Given the description of an element on the screen output the (x, y) to click on. 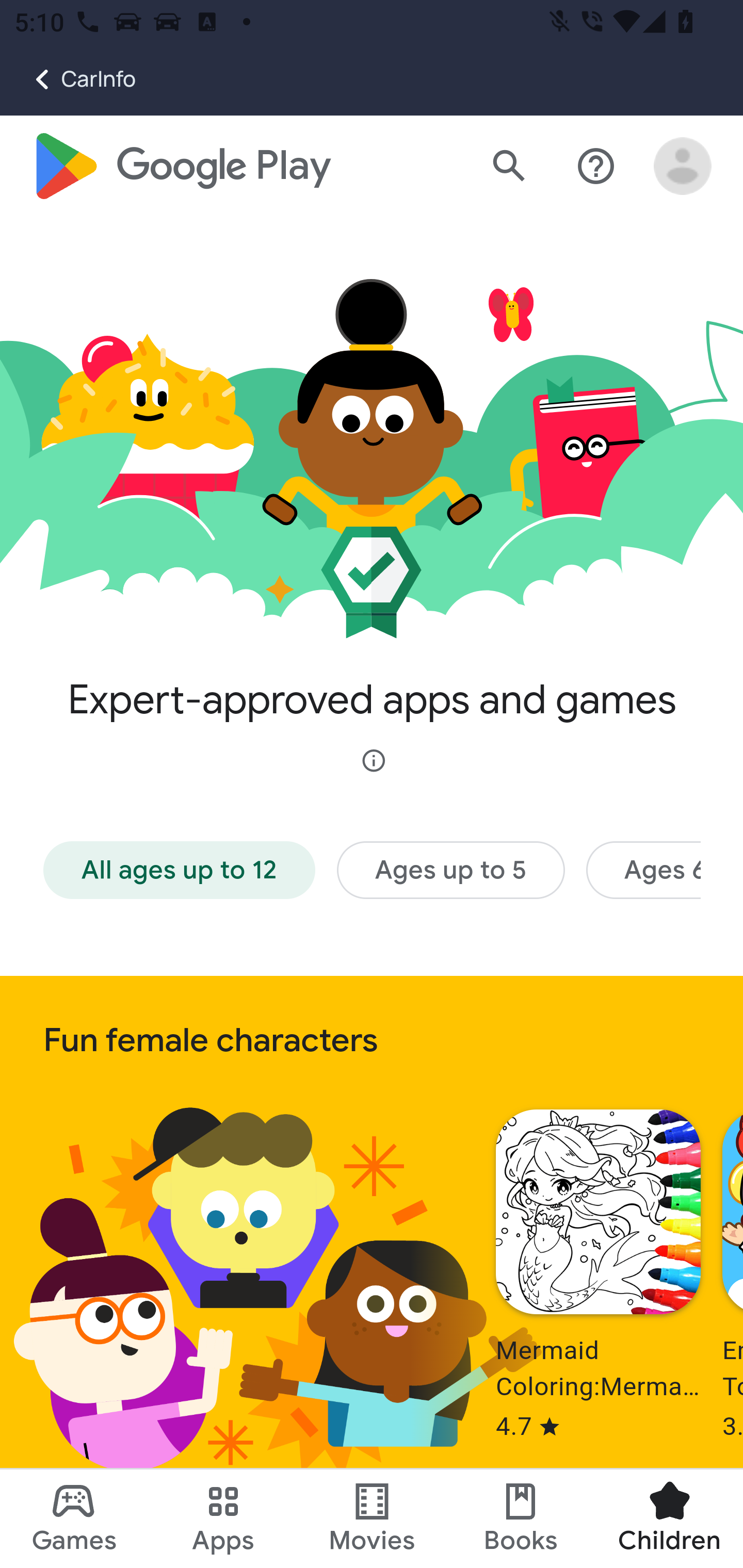
CarInfo (67, 79)
Google Play logo (180, 166)
Search (508, 166)
Help centre (596, 166)
Open account menu (682, 166)
All ages up to 12 (179, 871)
Ages up to 5 (449, 871)
Ages 6 to 8 (643, 871)
Games (74, 1518)
Apps (222, 1518)
Movies (372, 1518)
Books (520, 1518)
Children (668, 1518)
